Given the description of an element on the screen output the (x, y) to click on. 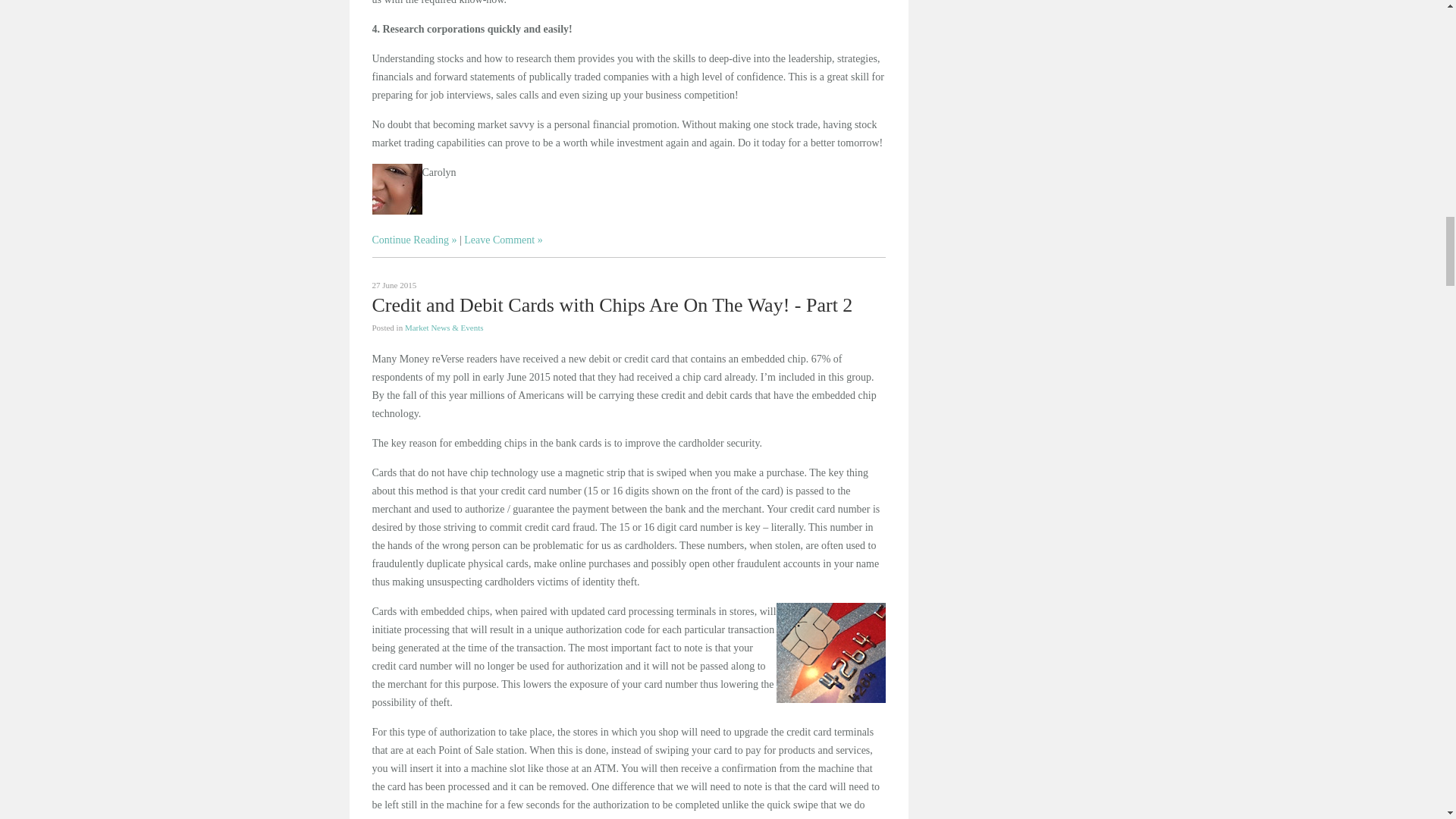
Continue Reading (414, 238)
Credit and Debit Cards with Chips Are On The Way! - Part 2 (611, 305)
Credit and Debit Cards with Chips Are On The Way! - Part 2 (611, 305)
Leave Comment (502, 238)
Chip Card Small (830, 651)
